Given the description of an element on the screen output the (x, y) to click on. 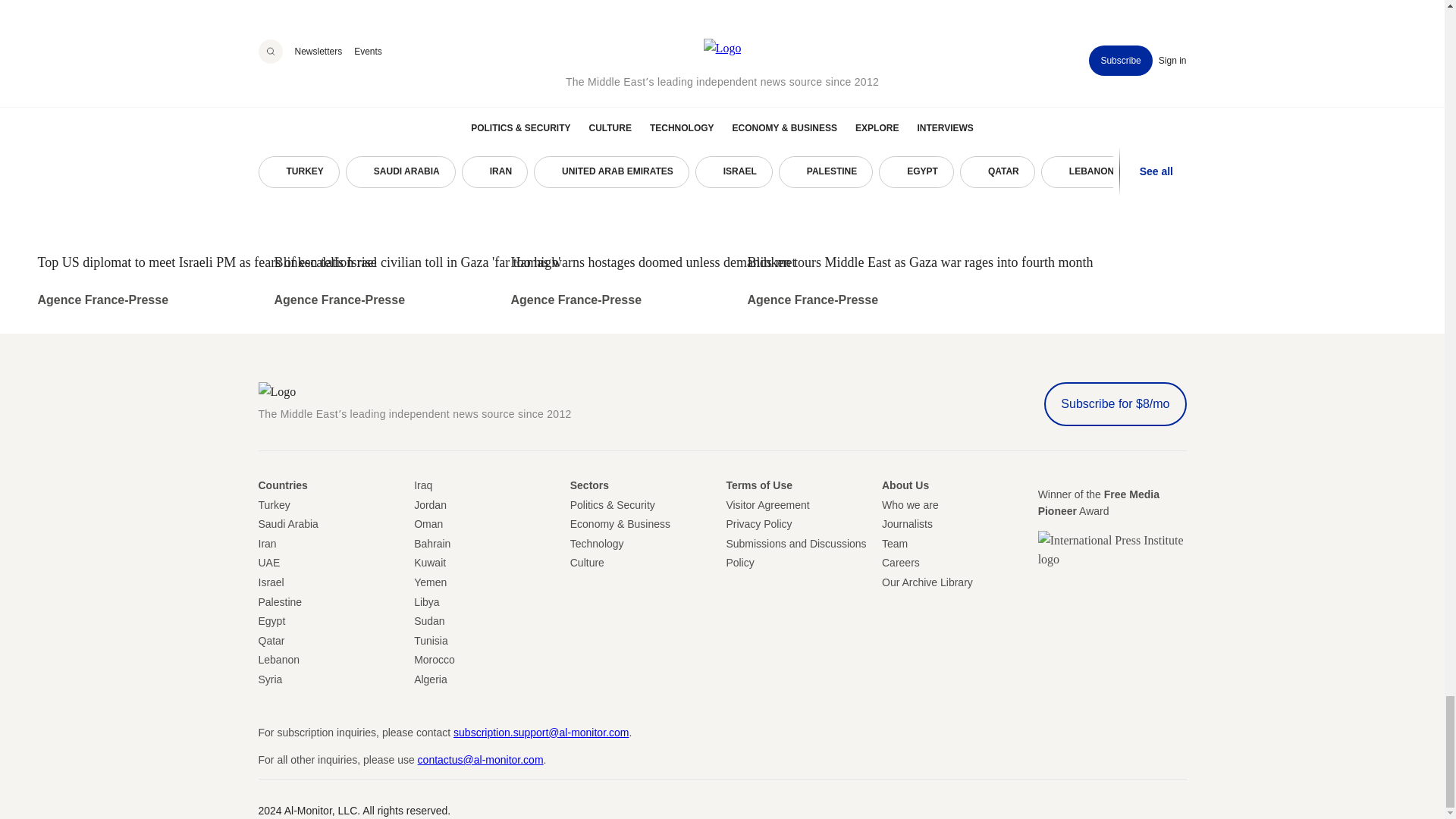
United Arab Amirates (268, 562)
